Given the description of an element on the screen output the (x, y) to click on. 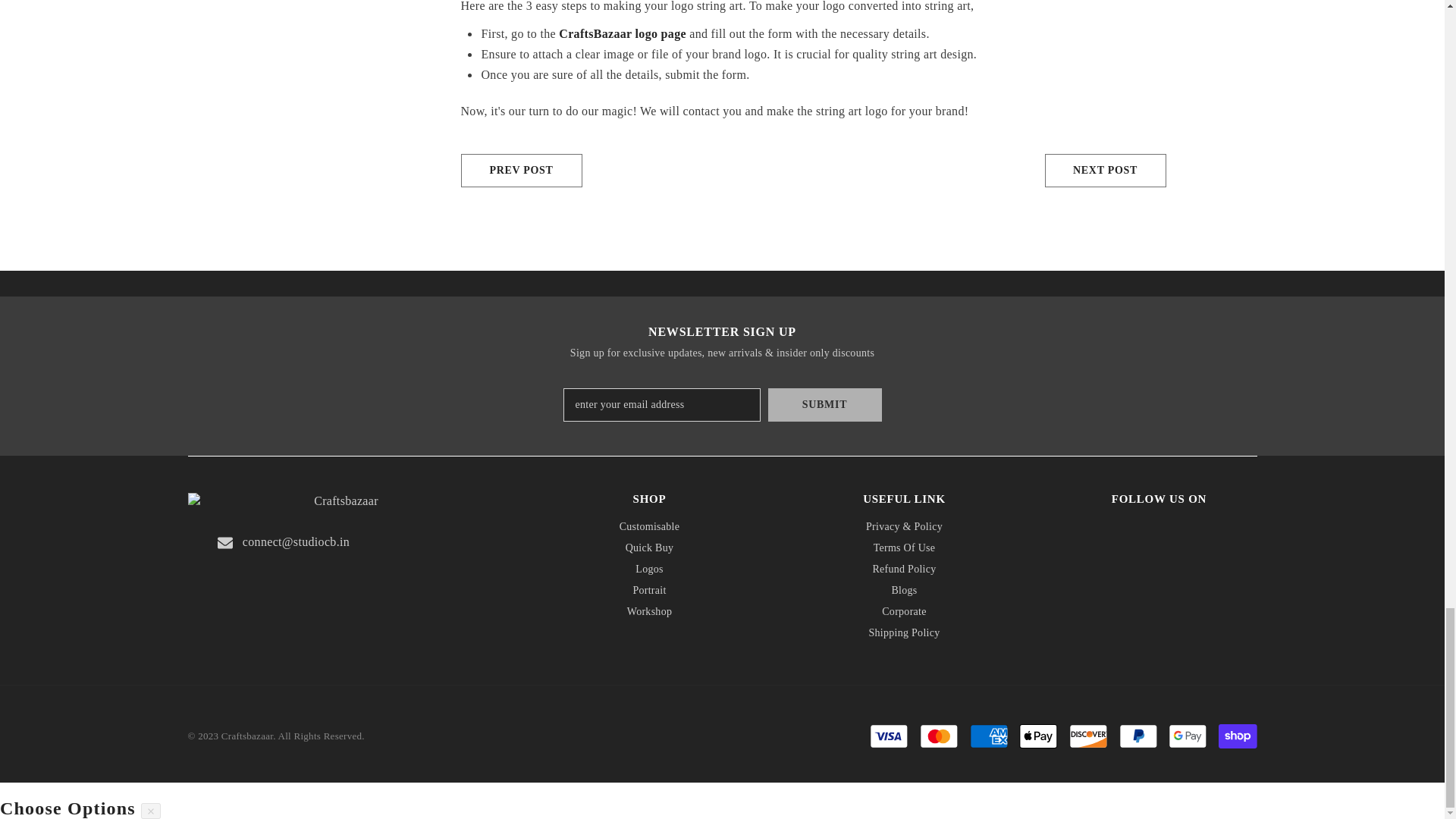
Google Pay (1188, 735)
Visa (888, 735)
American Express (989, 735)
Mastercard (939, 735)
Discover (1088, 735)
Apple Pay (1038, 735)
Shop Pay (1237, 735)
PayPal (1138, 735)
